Given the description of an element on the screen output the (x, y) to click on. 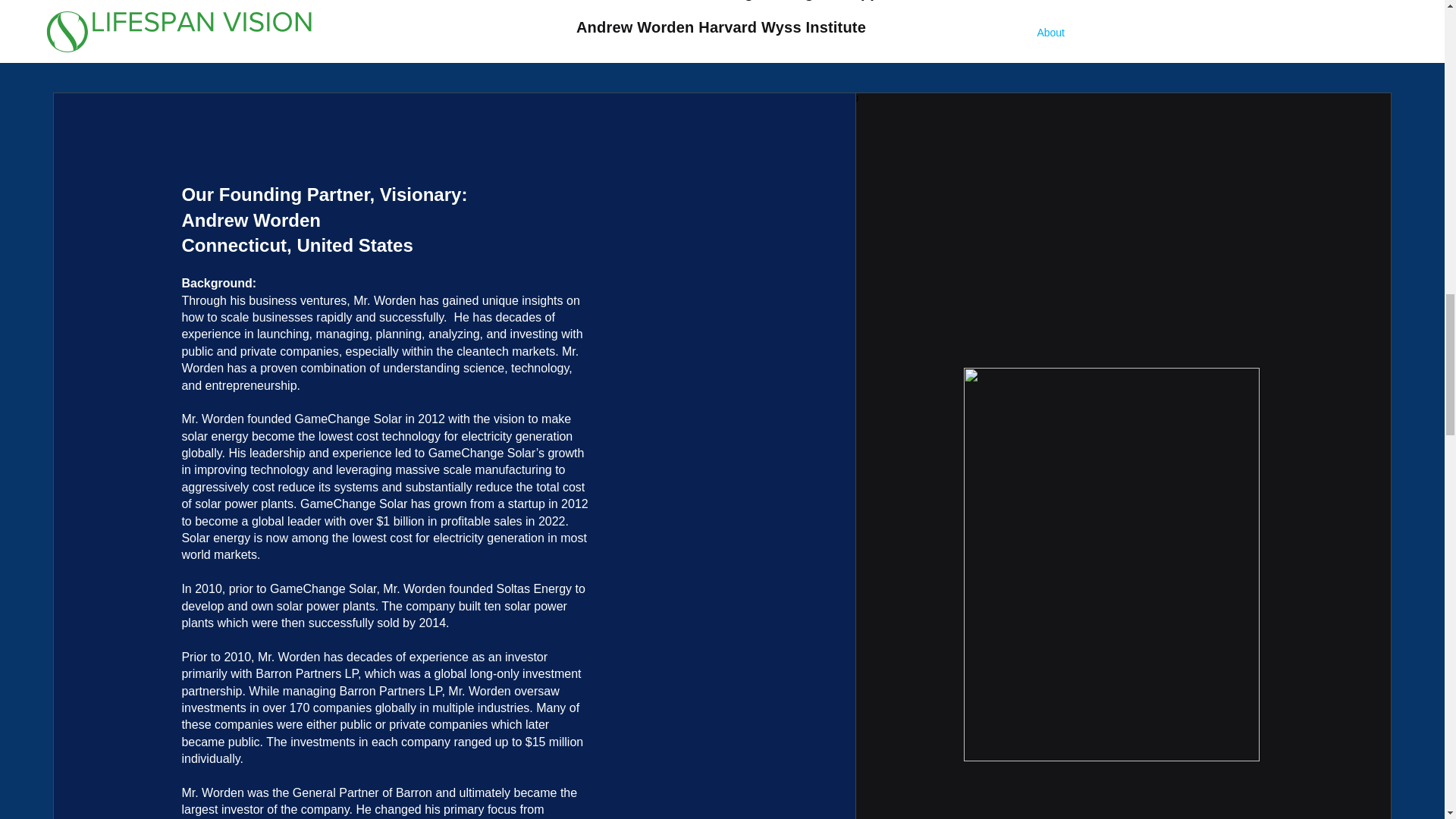
abw-headshot.jpg (1111, 564)
Andrew Worden Harvard Wyss Institute (721, 35)
